Given the description of an element on the screen output the (x, y) to click on. 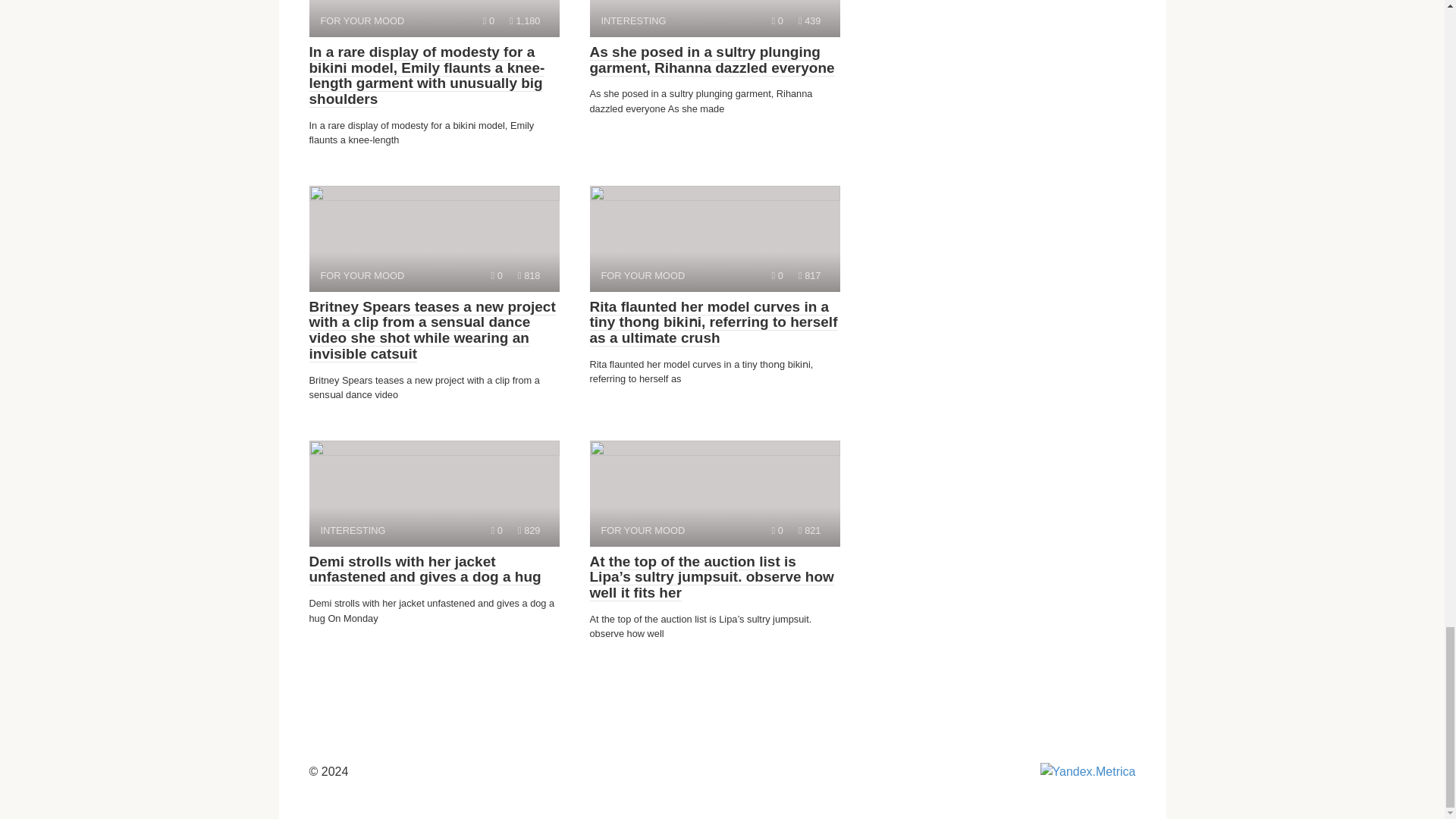
Comments (777, 20)
Comments (497, 275)
Comments (777, 530)
Views (809, 275)
Comments (497, 530)
Comments (777, 275)
Views (529, 530)
Views (529, 275)
Comments (714, 493)
